Given the description of an element on the screen output the (x, y) to click on. 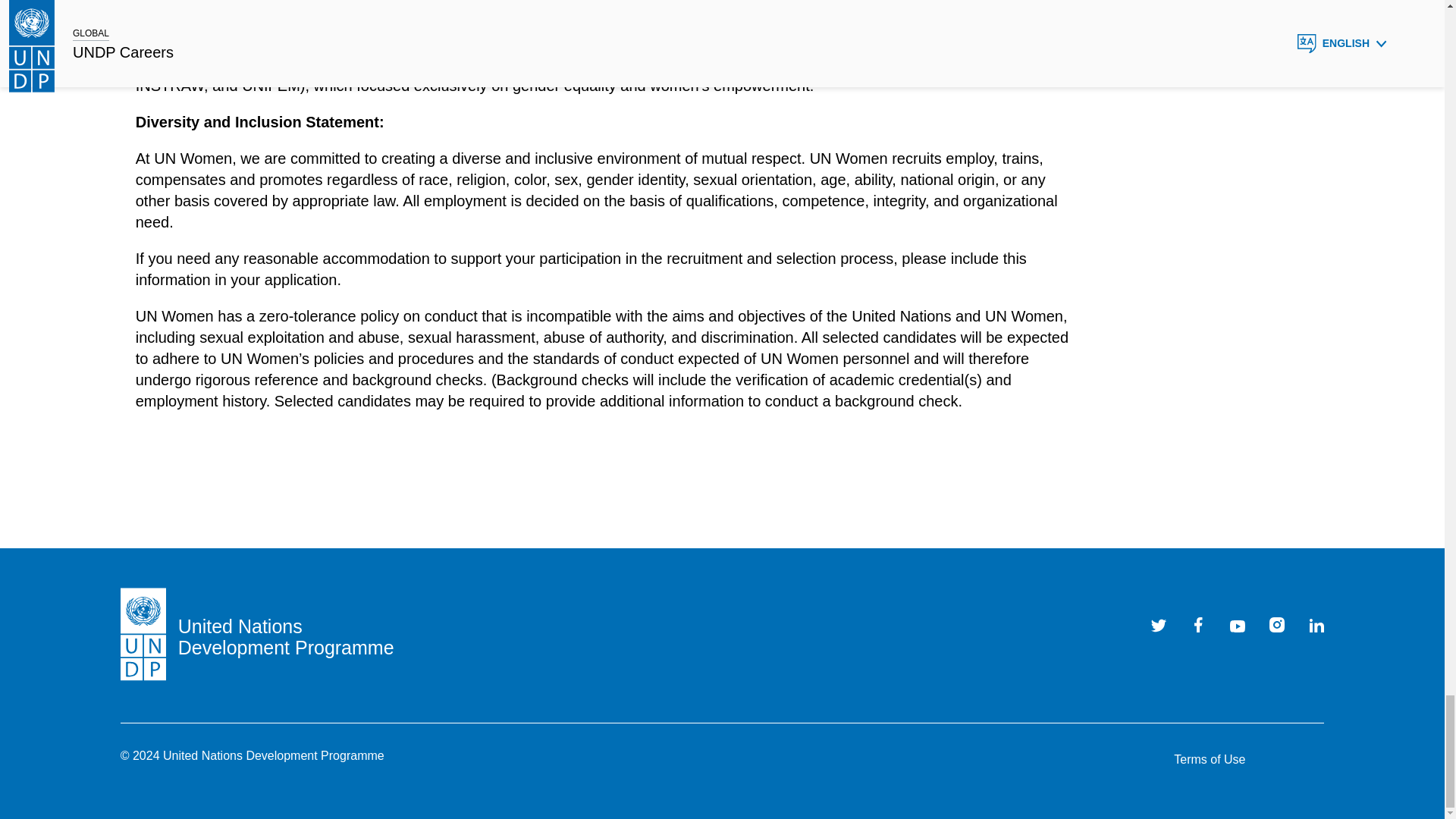
Instagram (1276, 624)
Youtube (1237, 624)
Facebook (1198, 624)
LinkedIn (1315, 624)
Twitter (1158, 624)
Terms of Use (1208, 759)
